Given the description of an element on the screen output the (x, y) to click on. 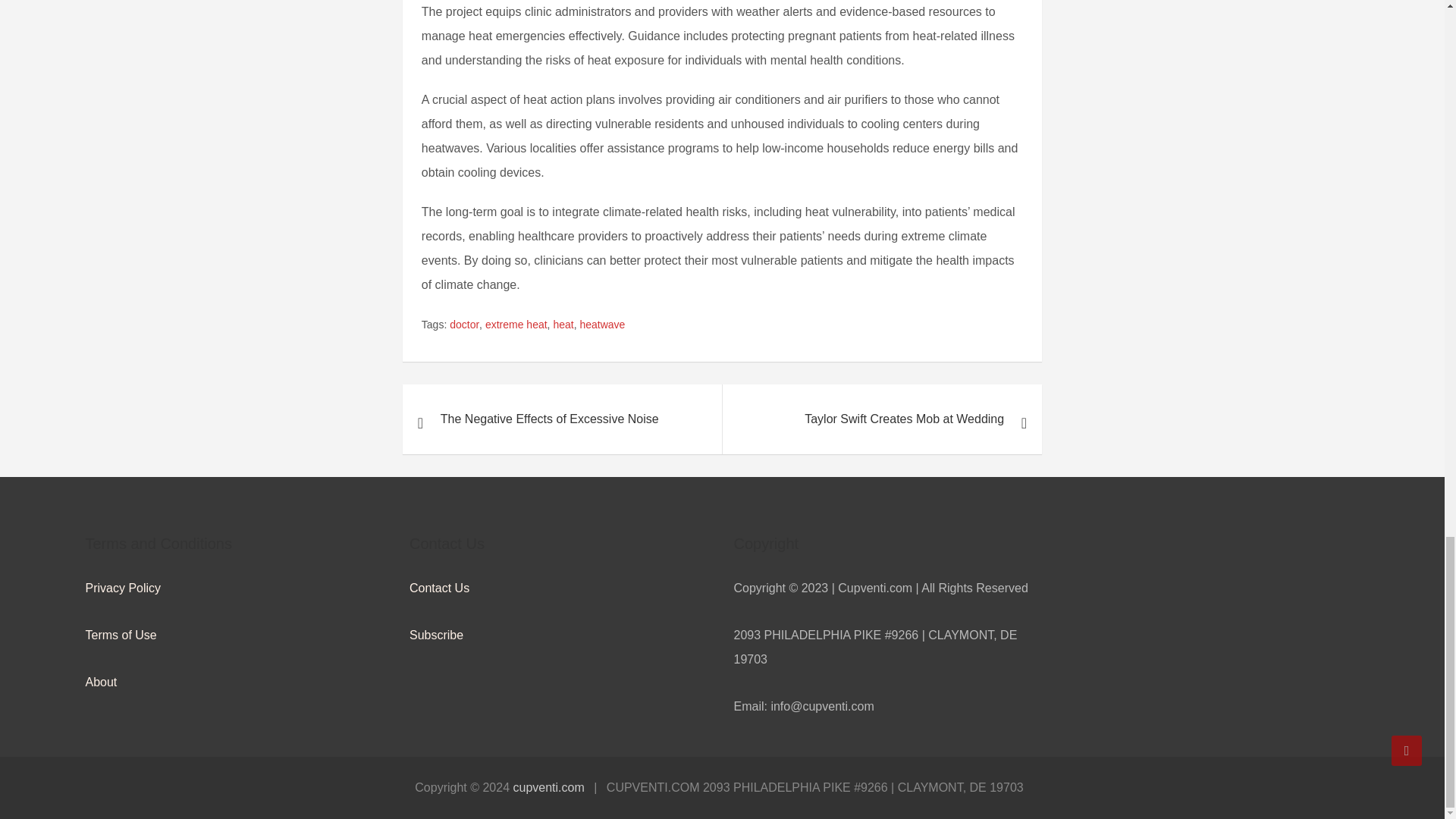
cupventi.com (547, 787)
doctor (464, 323)
Taylor Swift Creates Mob at Wedding (882, 419)
extreme heat (515, 323)
Contact Us (438, 587)
Subscribe (436, 634)
About (100, 681)
Privacy Policy (122, 587)
Terms of Use (119, 634)
cupventi.com (547, 787)
